Given the description of an element on the screen output the (x, y) to click on. 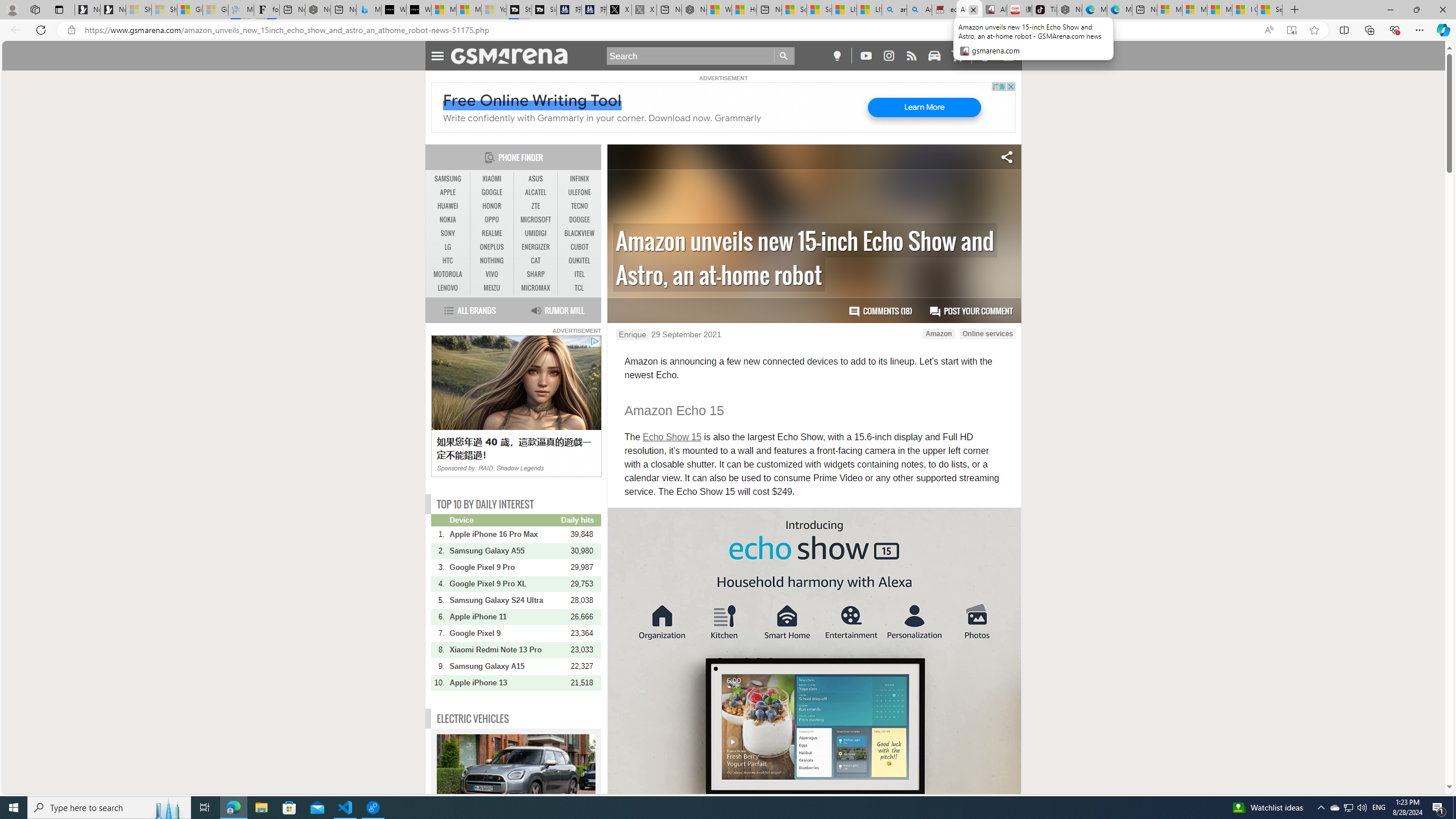
ULEFONE (579, 192)
SAMSUNG (448, 178)
TECNO (579, 205)
VIVO (491, 273)
Learn More (924, 107)
ALCATEL (535, 192)
ULEFONE (579, 192)
